Given the description of an element on the screen output the (x, y) to click on. 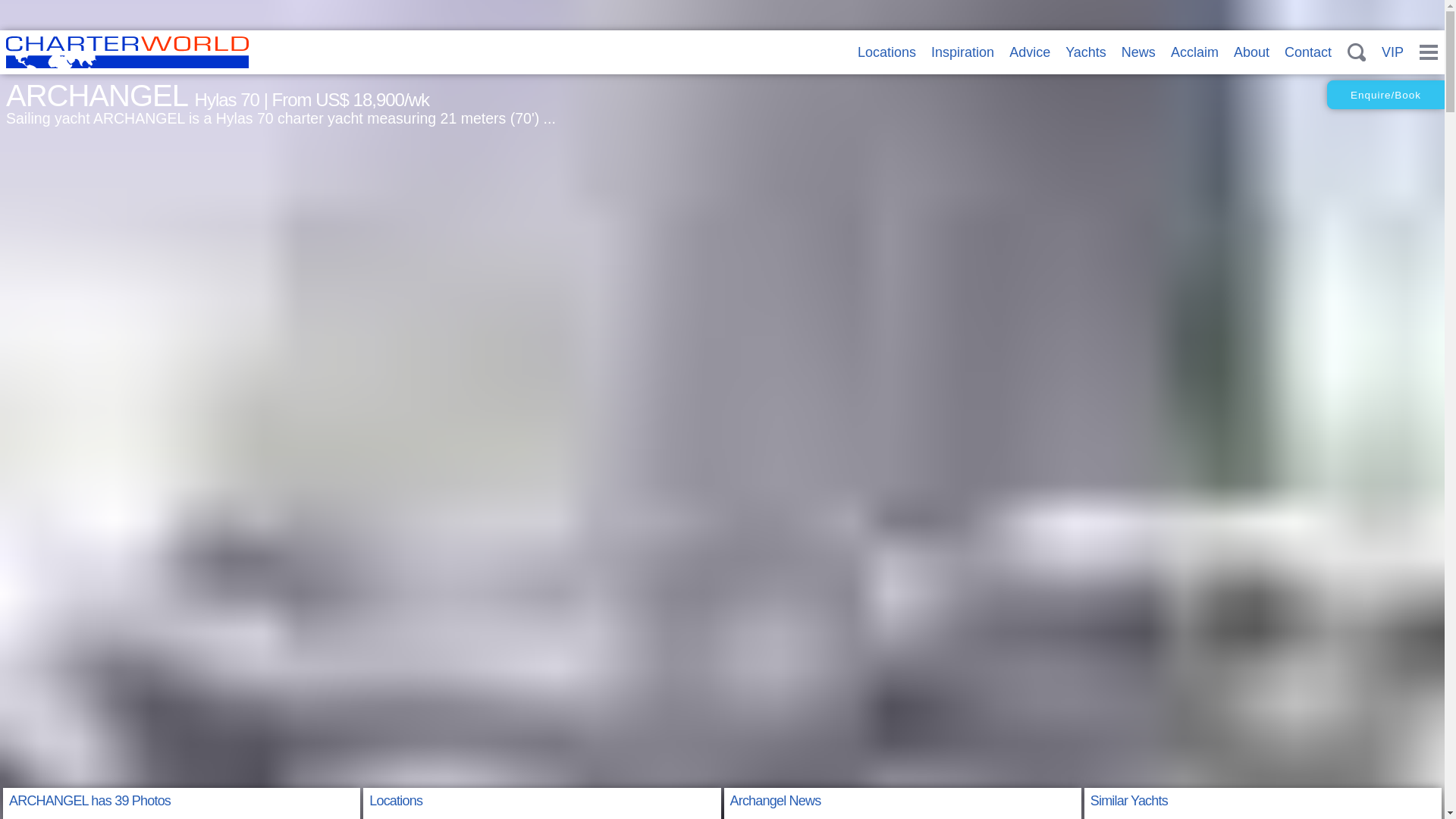
Yachts (1085, 51)
About (1251, 51)
Menu (1428, 51)
VIP (1392, 51)
Advice (1029, 51)
Inspiration (962, 51)
Locations (886, 51)
Archangel News (775, 800)
News (1138, 51)
Acclaim (1194, 51)
Contact (1308, 51)
Search (1356, 51)
